Given the description of an element on the screen output the (x, y) to click on. 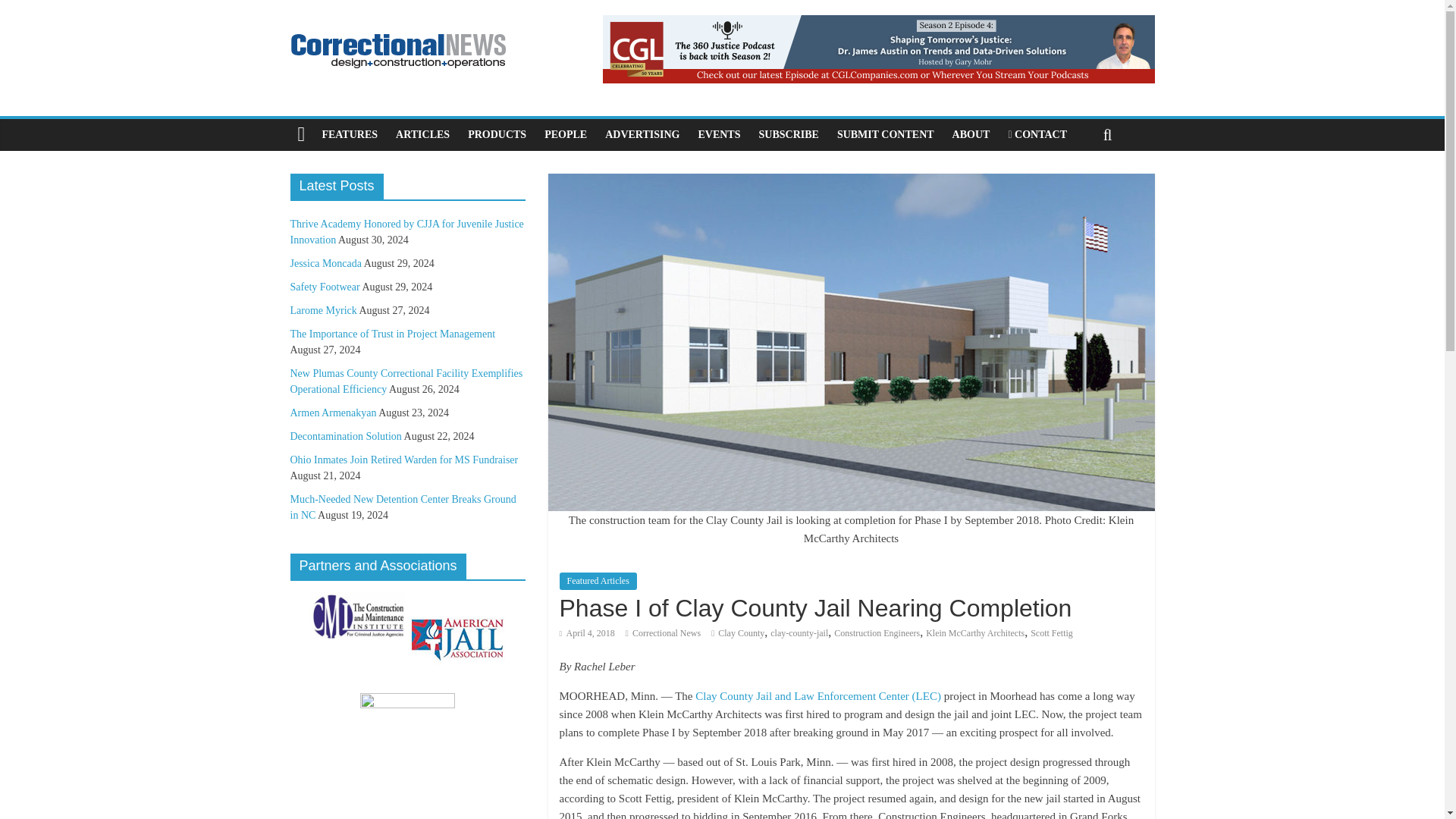
The Importance of Trust in Project Management (392, 333)
CONTACT (1036, 134)
Armen Armenakyan (332, 412)
Correctional News (665, 633)
SUBSCRIBE (788, 134)
ADVERTISING (641, 134)
Jessica Moncada (325, 263)
Correctional News (665, 633)
ABOUT (970, 134)
